Given the description of an element on the screen output the (x, y) to click on. 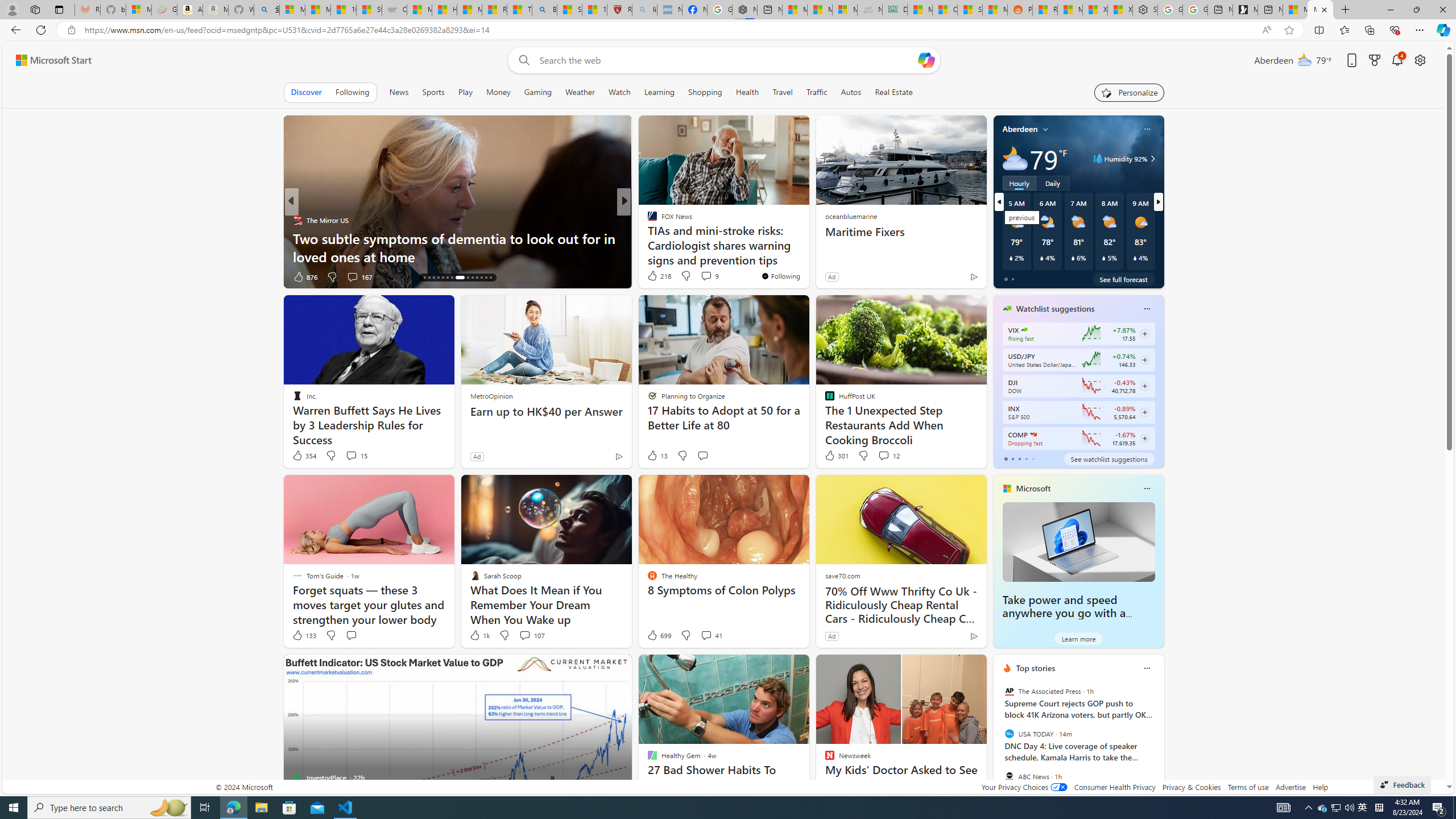
Maritime Fixers (900, 232)
Learning (659, 92)
View comments 12 Comment (888, 455)
tab-3 (1025, 458)
R******* | Trusted Community Engagement and Contributions (1044, 9)
Hide this story (952, 668)
Microsoft (1033, 488)
